Given the description of an element on the screen output the (x, y) to click on. 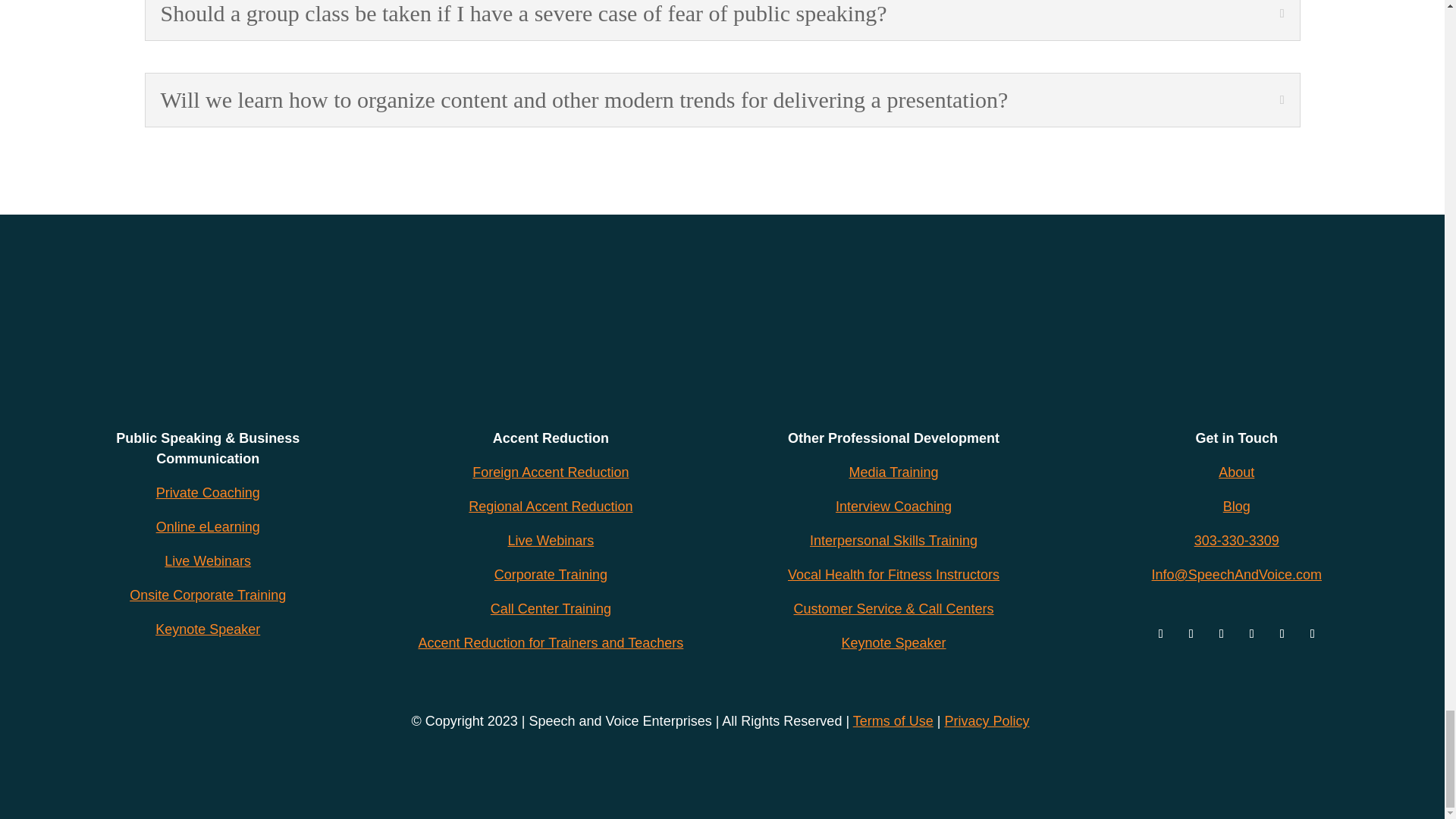
white-logo no tagline (722, 336)
Follow on TikTok (1281, 633)
Follow on Facebook (1312, 633)
Follow on LinkedIn (1221, 633)
Follow on Instagram (1251, 633)
Follow on Google (1160, 633)
Follow on Youtube (1191, 633)
